Given the description of an element on the screen output the (x, y) to click on. 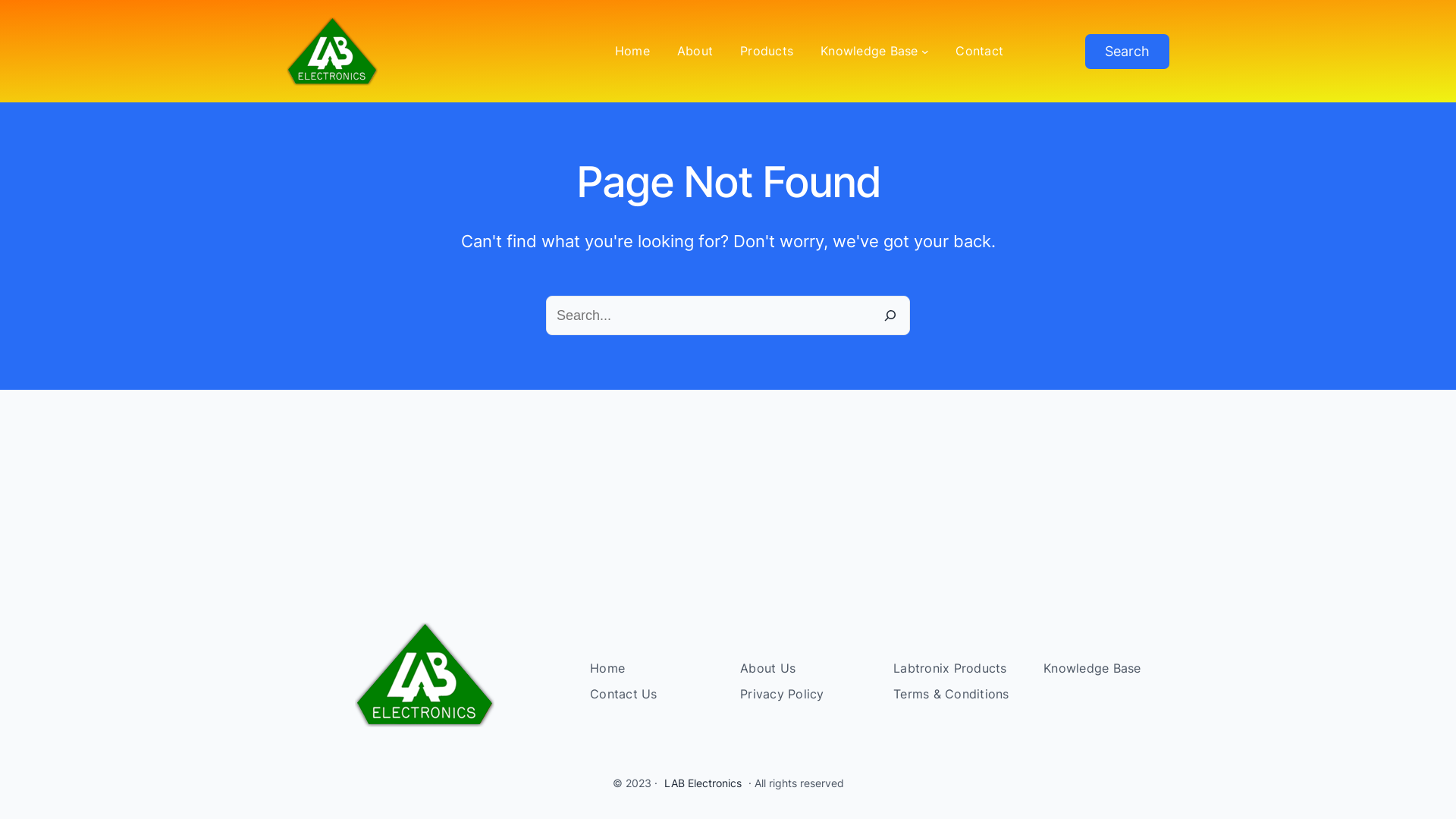
Terms & Conditions Element type: text (951, 694)
Products Element type: text (766, 51)
Home Element type: text (632, 51)
Knowledge Base Element type: text (869, 51)
About Us Element type: text (767, 668)
Labtronix Products Element type: text (950, 668)
Privacy Policy Element type: text (782, 694)
Contact Us Element type: text (623, 694)
Search Element type: text (1127, 50)
Contact Element type: text (979, 51)
About Element type: text (694, 51)
Knowledge Base Element type: text (1092, 668)
Home Element type: text (606, 668)
LAB Electronics Element type: text (702, 782)
